Given the description of an element on the screen output the (x, y) to click on. 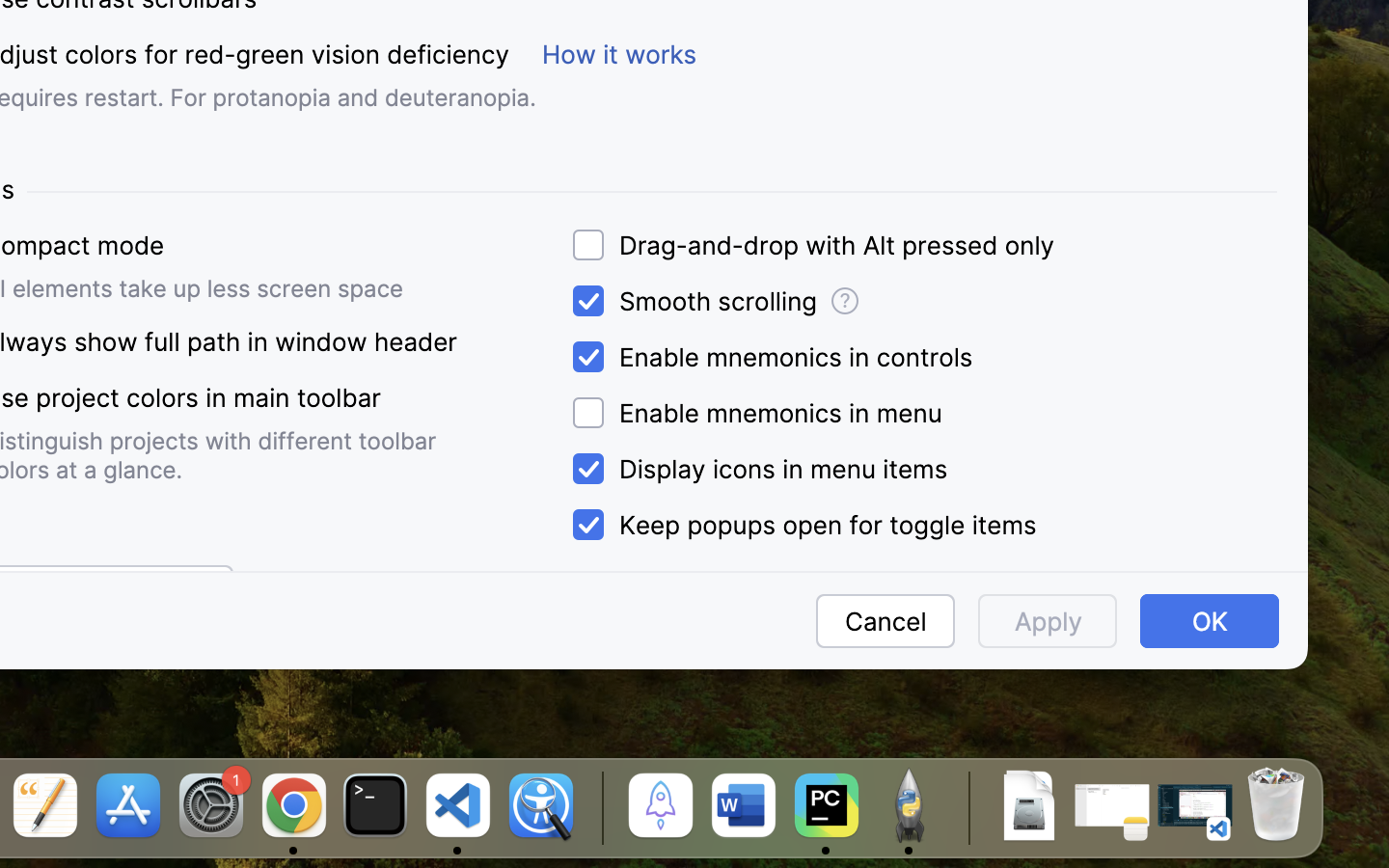
1 Element type: AXCheckBox (800, 525)
0.4285714328289032 Element type: AXDockItem (598, 807)
0 Element type: AXCheckBox (810, 245)
